Given the description of an element on the screen output the (x, y) to click on. 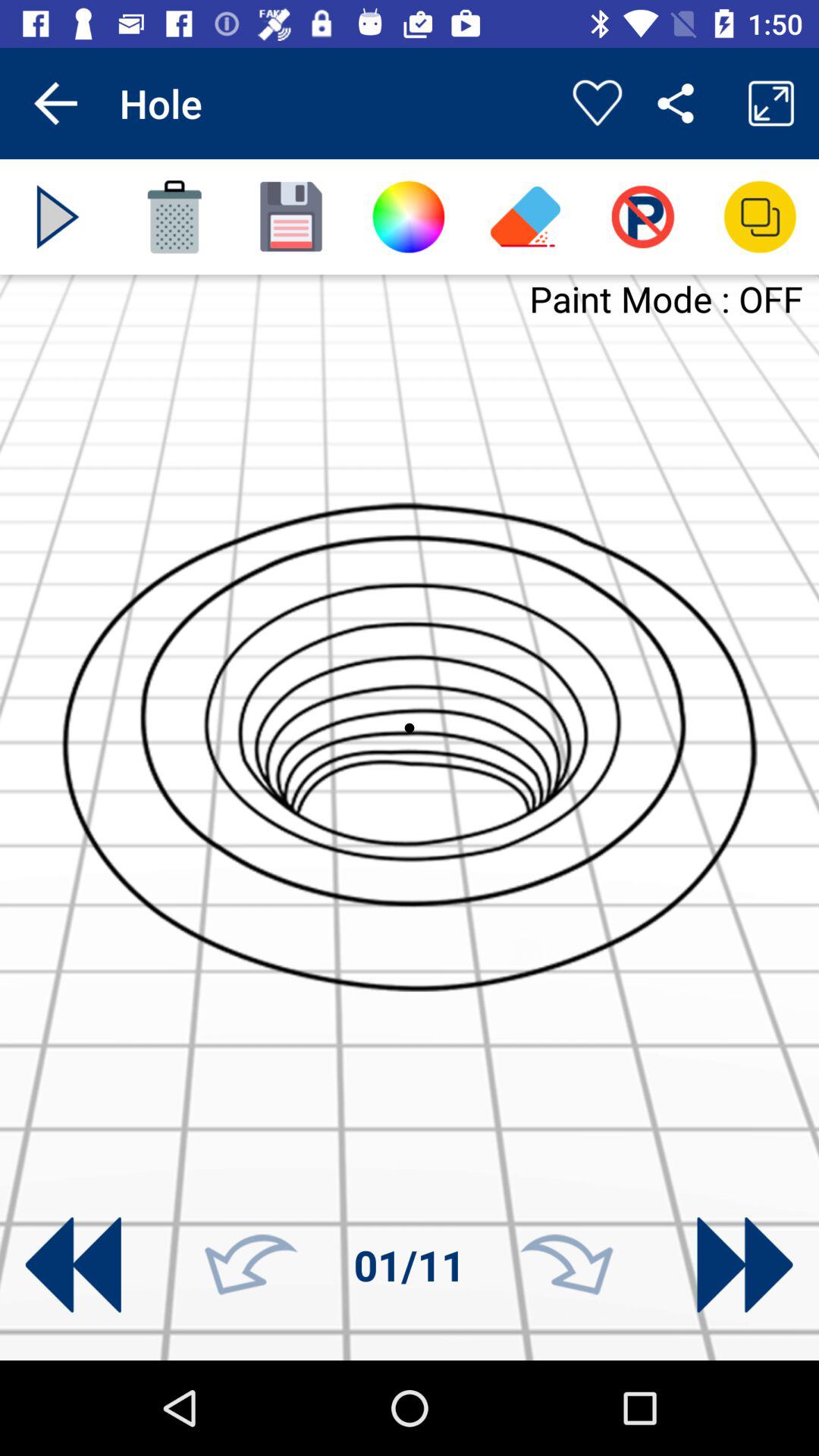
play button (58, 216)
